Given the description of an element on the screen output the (x, y) to click on. 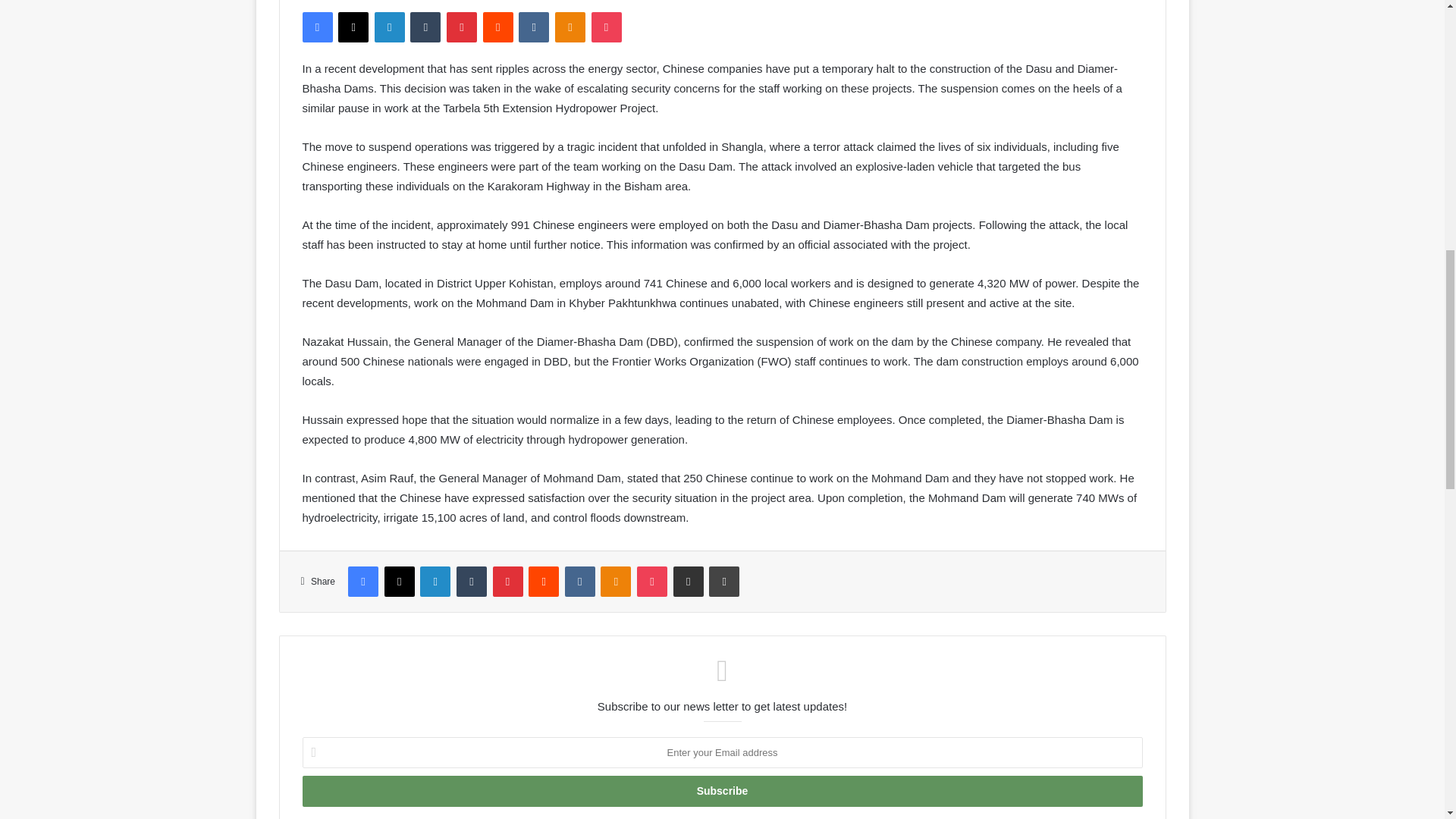
Pinterest (461, 27)
Tumblr (425, 27)
X (352, 27)
Reddit (498, 27)
LinkedIn (389, 27)
LinkedIn (389, 27)
Subscribe (721, 790)
Odnoklassniki (569, 27)
Pinterest (461, 27)
Pocket (606, 27)
Pocket (606, 27)
VKontakte (533, 27)
Facebook (316, 27)
Facebook (316, 27)
Reddit (498, 27)
